Given the description of an element on the screen output the (x, y) to click on. 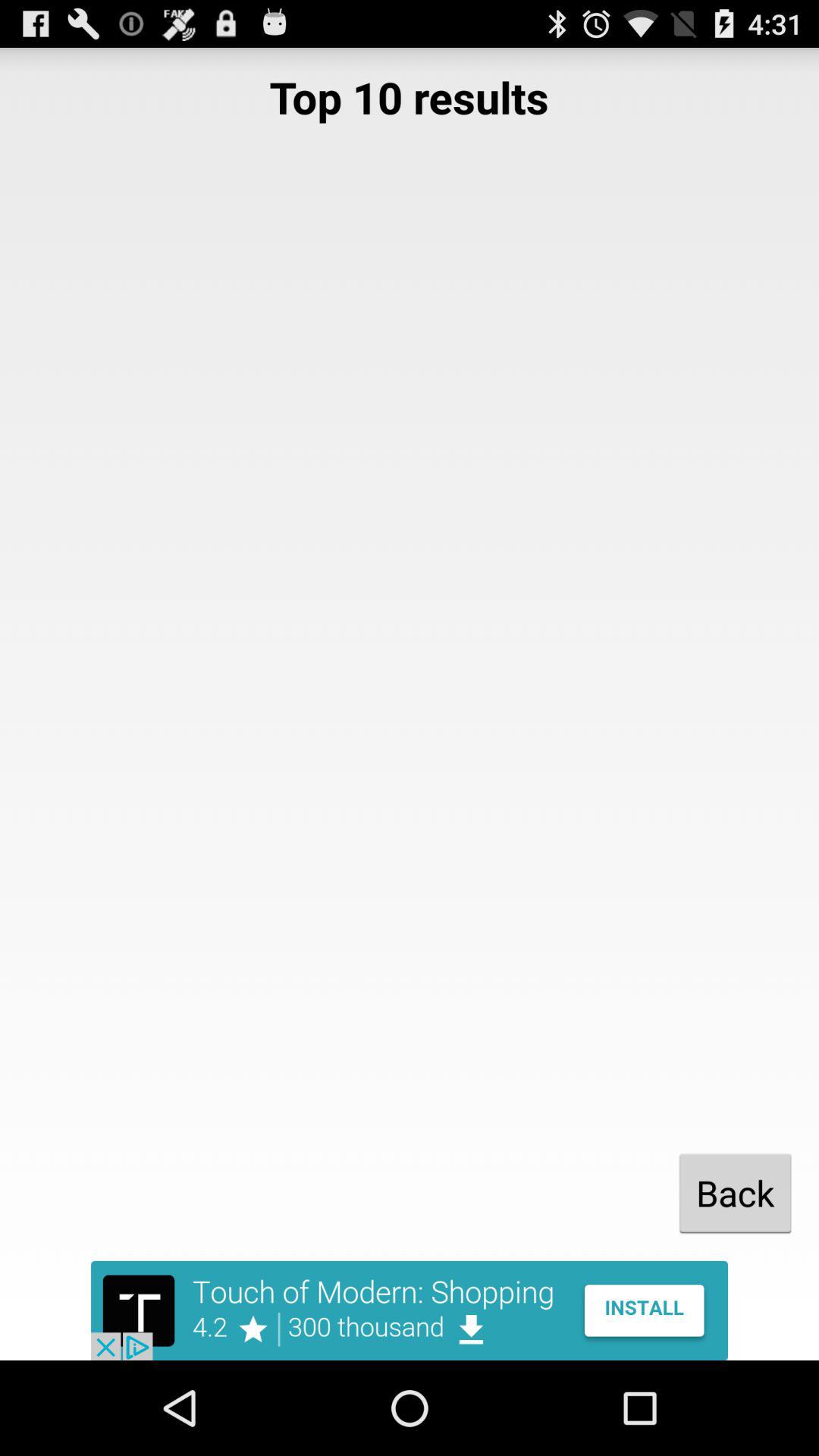
advertisement banner (409, 1310)
